Given the description of an element on the screen output the (x, y) to click on. 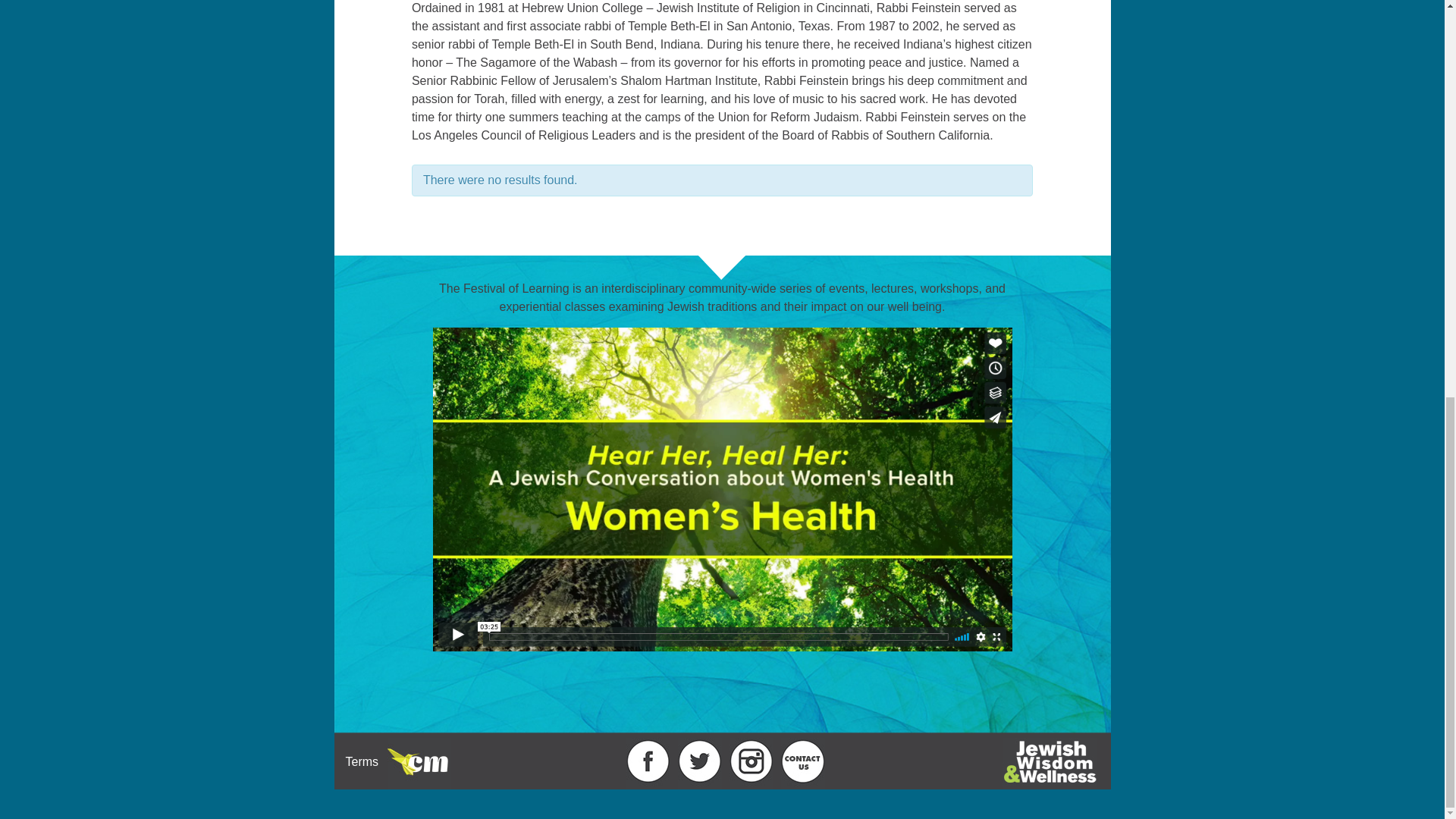
Creative Matters (419, 763)
Terms (362, 761)
